Given the description of an element on the screen output the (x, y) to click on. 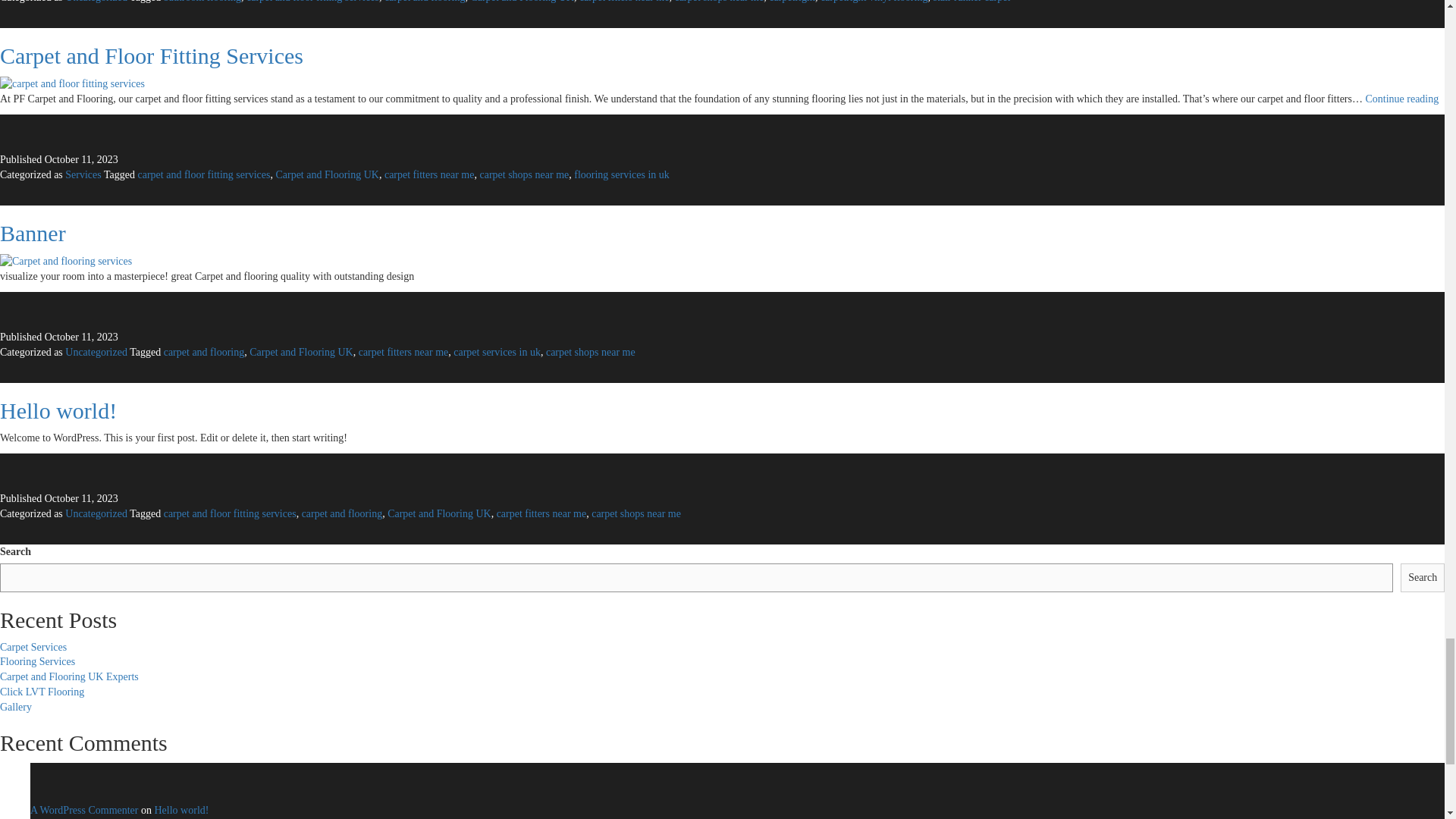
Carpet and Floor Fitting Services (151, 55)
carpetright (791, 1)
carpet shops near me (718, 1)
carpet fitters near me (624, 1)
bathroom flooring (202, 1)
carpet and floor fitting services (312, 1)
stair runner carpet (971, 1)
carpet and flooring (424, 1)
carpetright vinyl flooring (874, 1)
Carpet and Flooring UK (521, 1)
Uncategorized (96, 1)
